Given the description of an element on the screen output the (x, y) to click on. 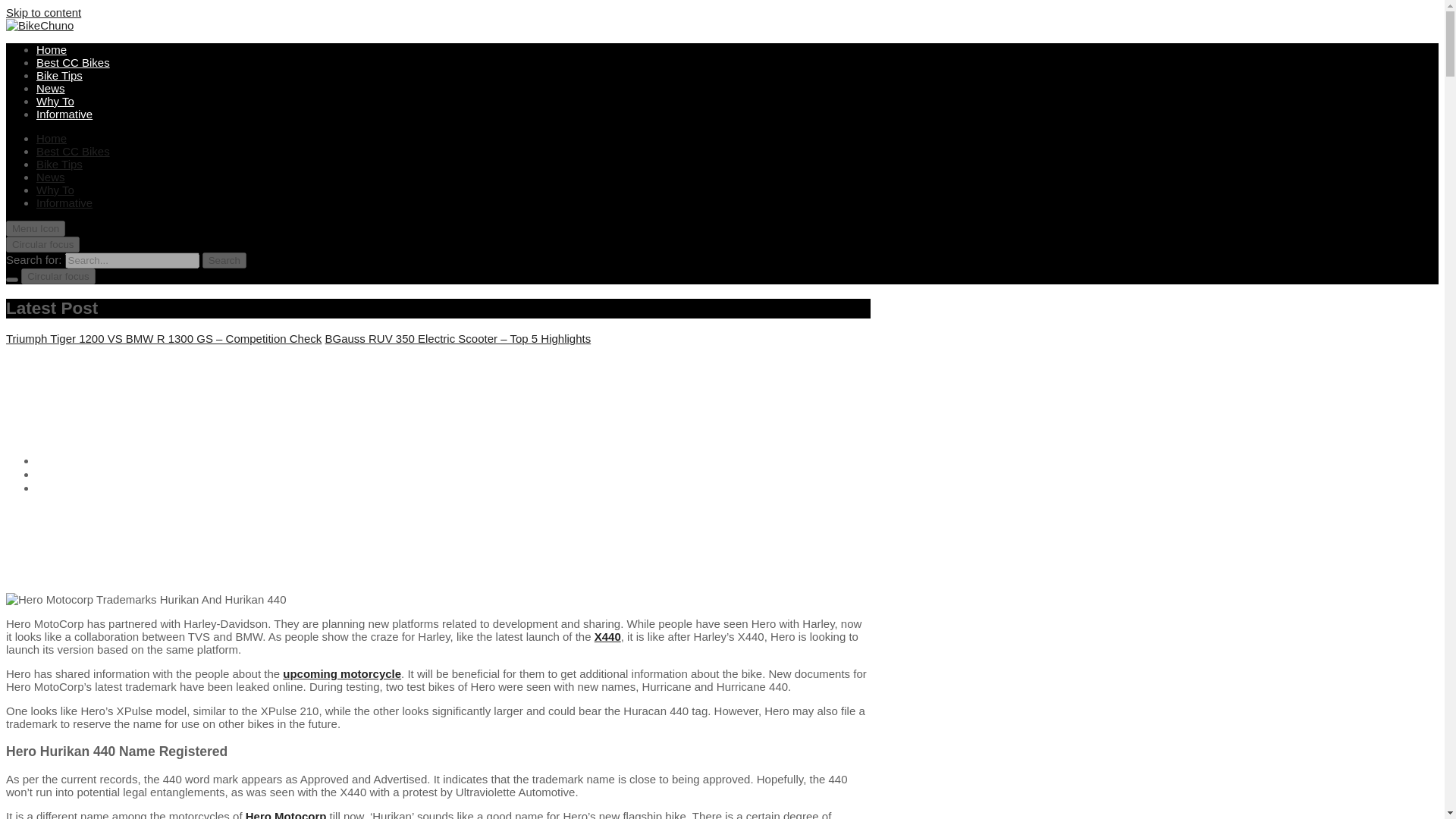
Hero (51, 473)
Circular focus (42, 244)
Why To (55, 101)
Home (55, 460)
Bike Tips (59, 164)
Informative (64, 202)
upcoming motorcycle (341, 673)
Best CC Bikes (73, 62)
Menu Icon (35, 228)
BikeChuno (46, 57)
